Given the description of an element on the screen output the (x, y) to click on. 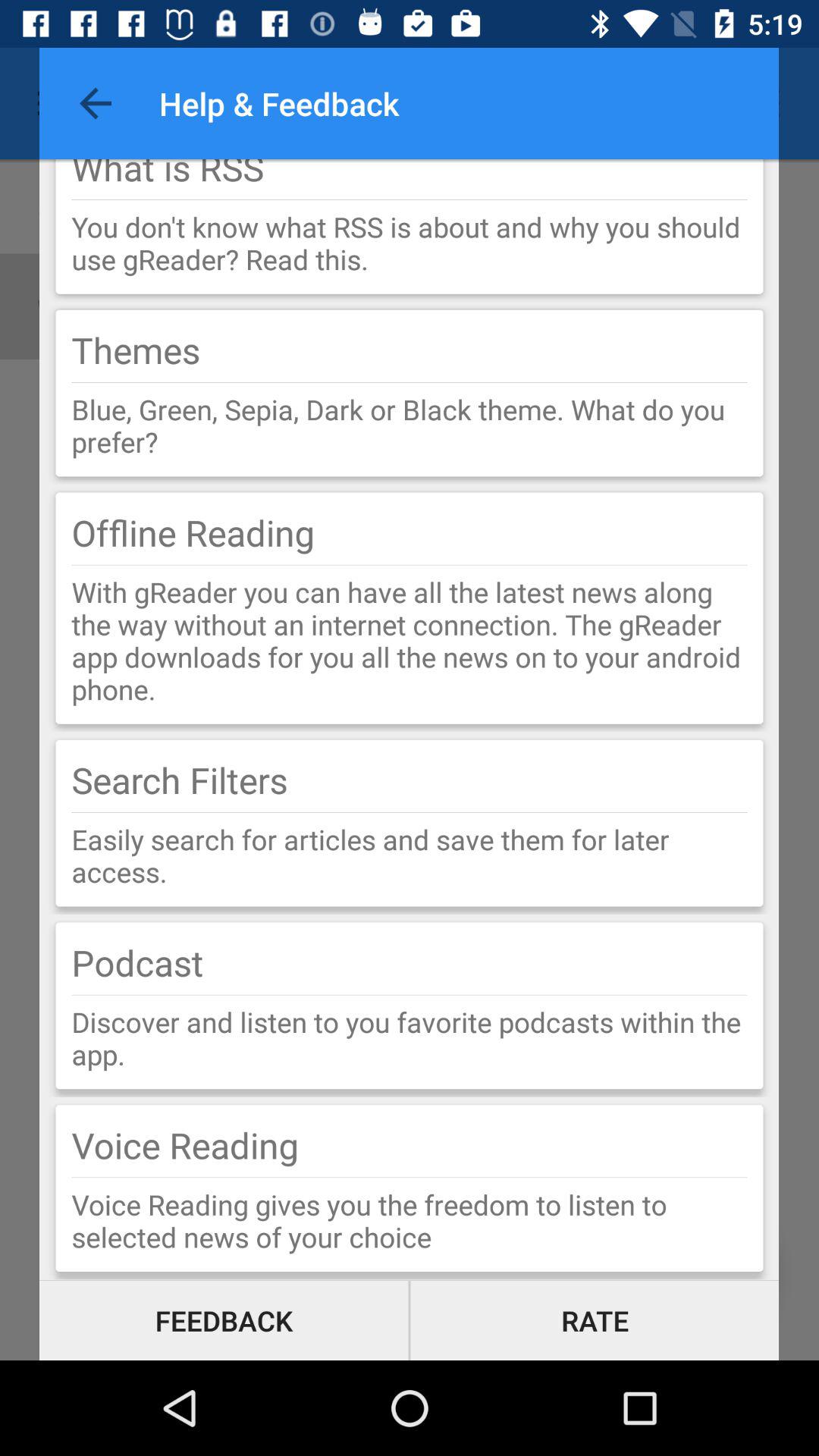
press the item above the blue green sepia (409, 382)
